Given the description of an element on the screen output the (x, y) to click on. 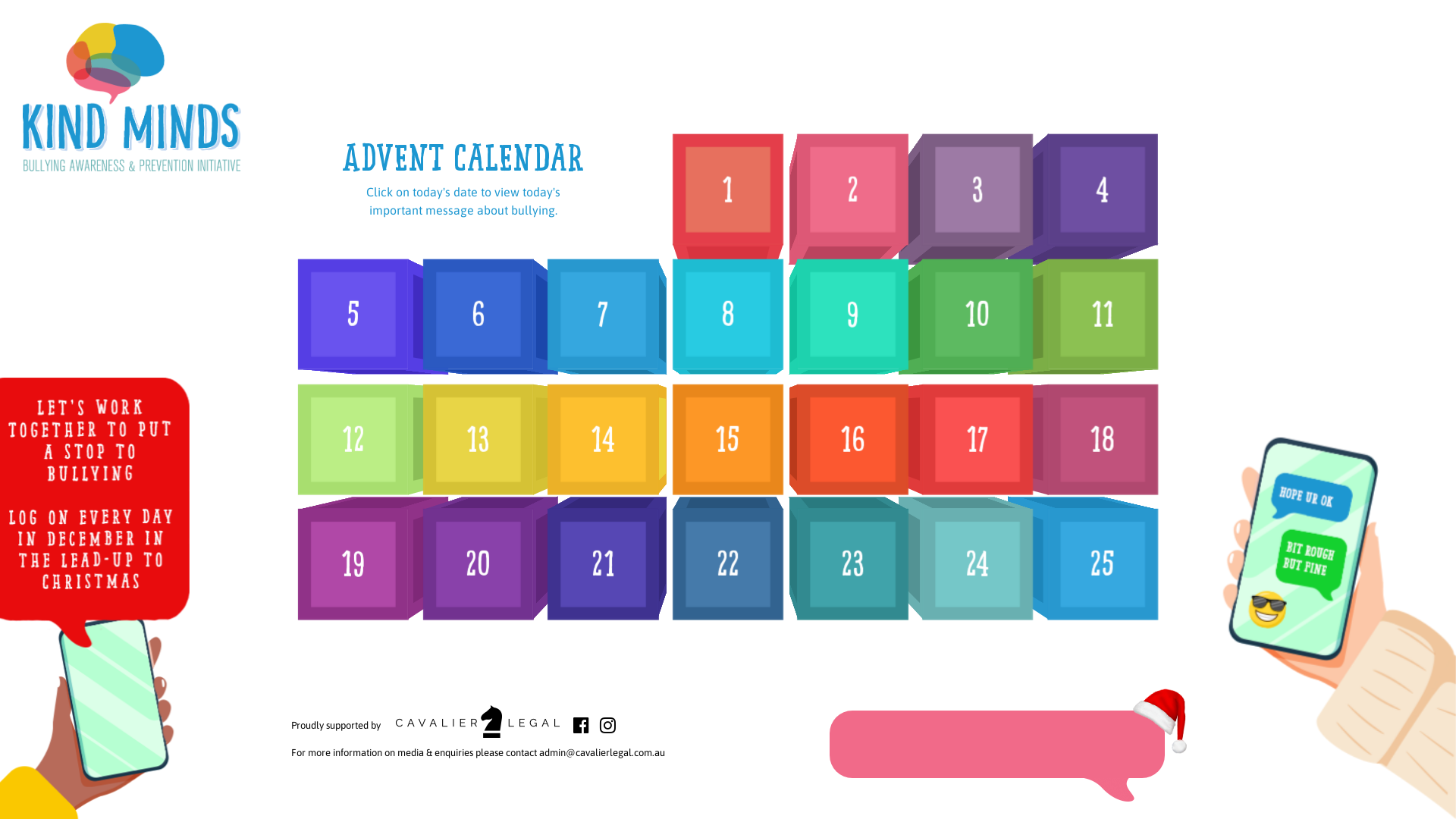
admin@cavalierlegal.com.au Element type: text (602, 752)
